Given the description of an element on the screen output the (x, y) to click on. 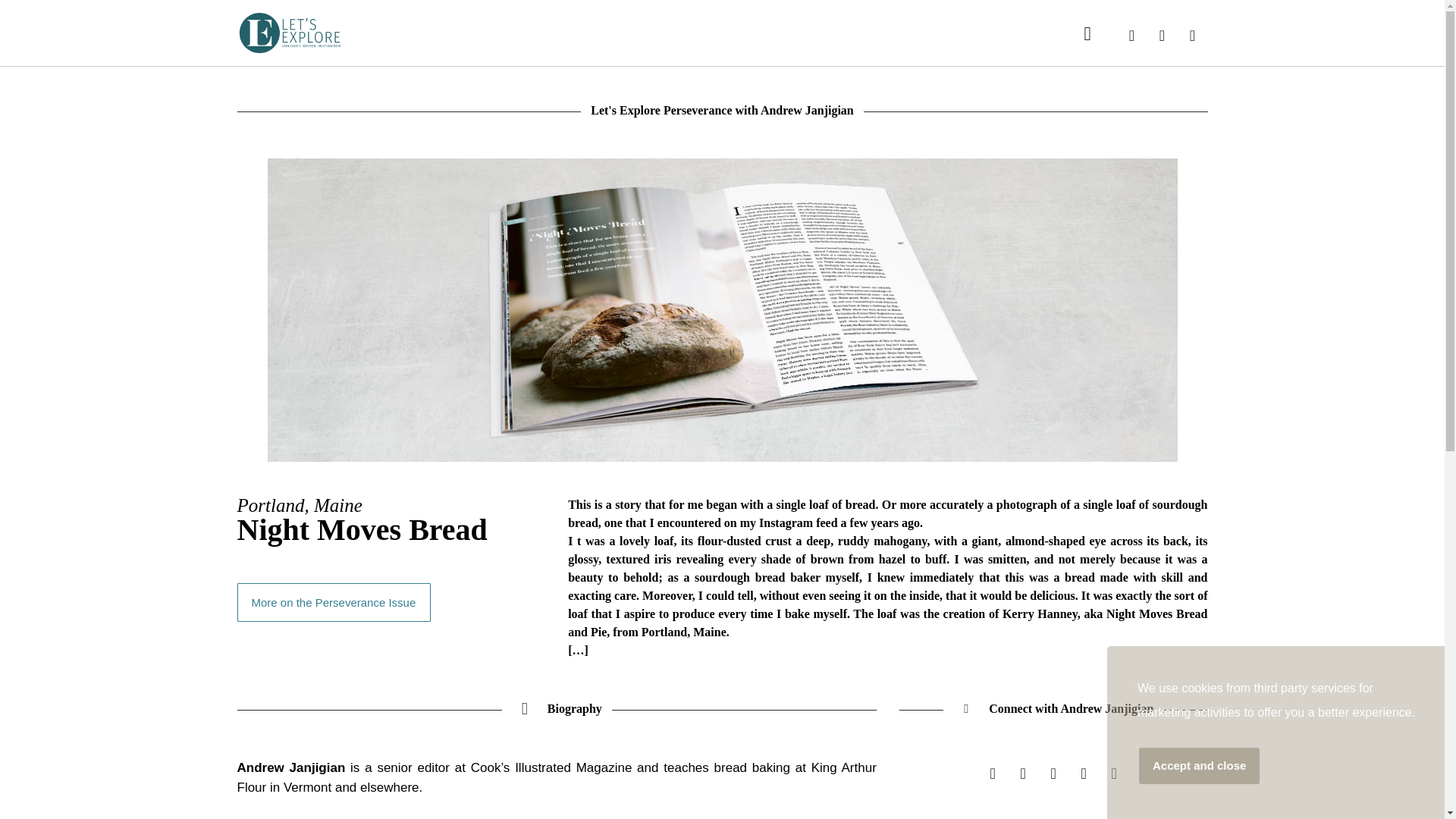
Instagram (1022, 773)
Instagram (1053, 773)
LinkedIn (1191, 35)
Curiosity Driven Inspiration (288, 32)
More on the Perseverance Issue (332, 602)
Twitter (1083, 773)
Website (991, 773)
Twitter (1131, 35)
Instagram (1161, 35)
